Given the description of an element on the screen output the (x, y) to click on. 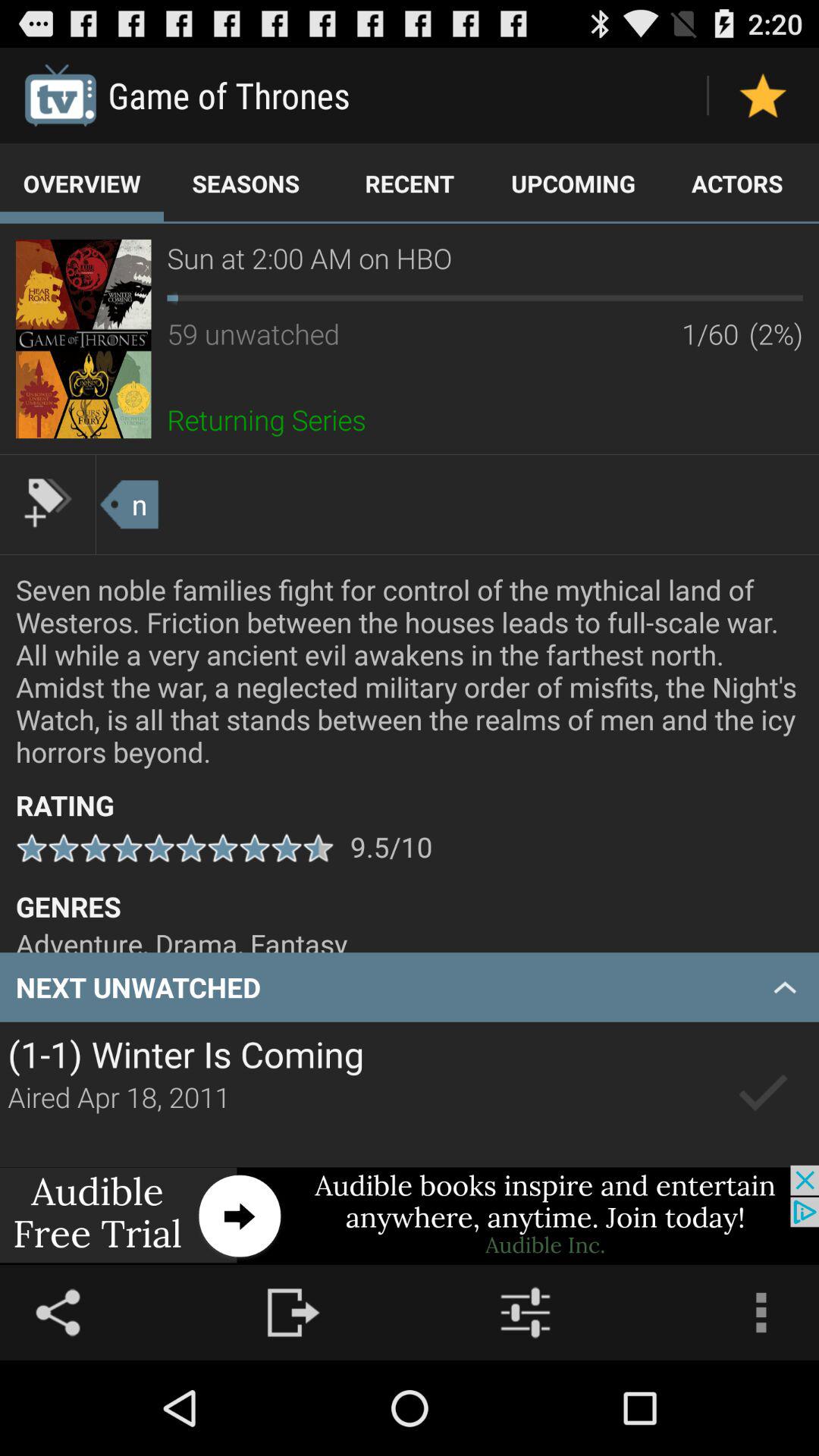
toggle favorite status (763, 95)
